Given the description of an element on the screen output the (x, y) to click on. 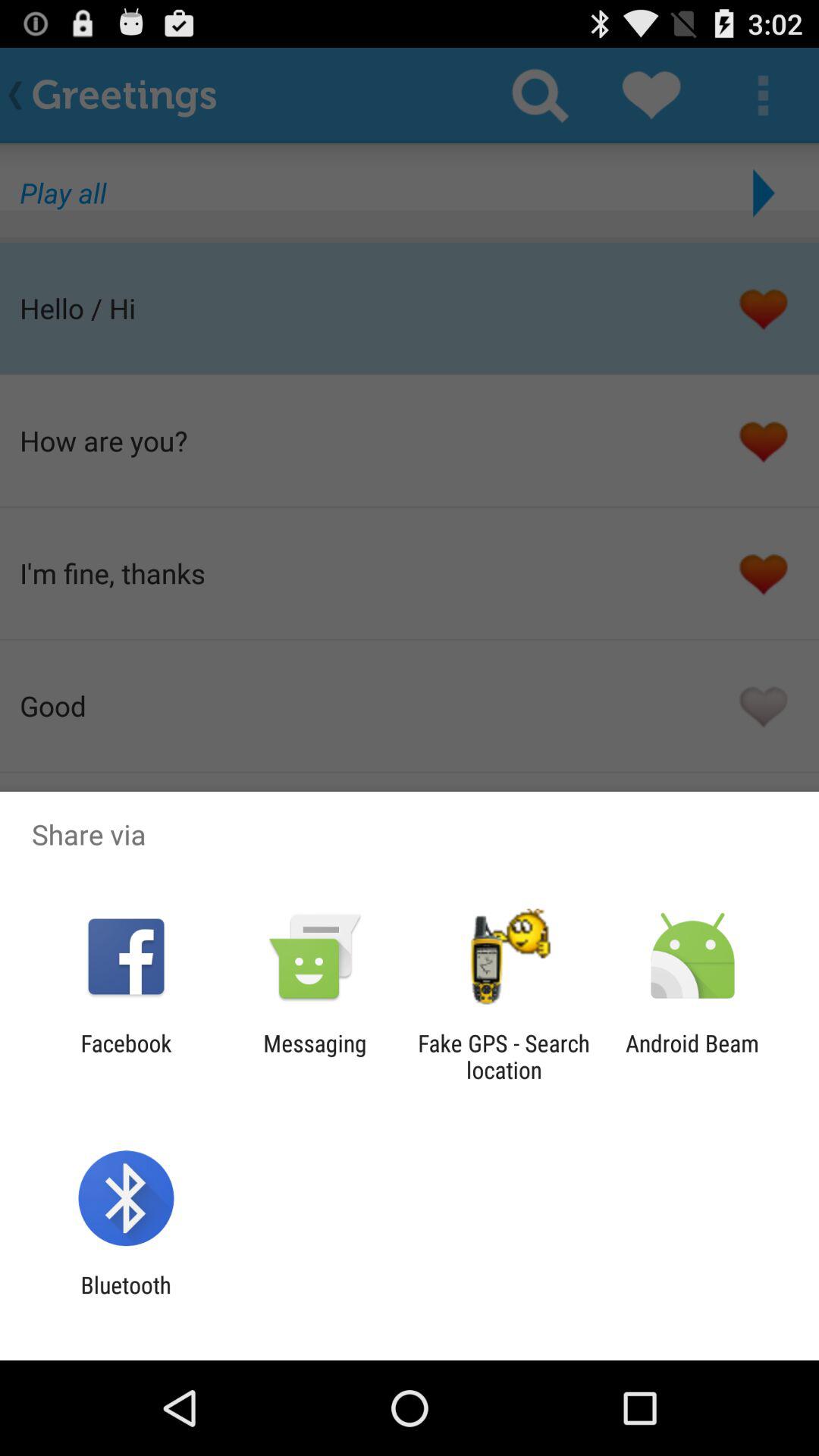
launch the bluetooth item (125, 1298)
